Given the description of an element on the screen output the (x, y) to click on. 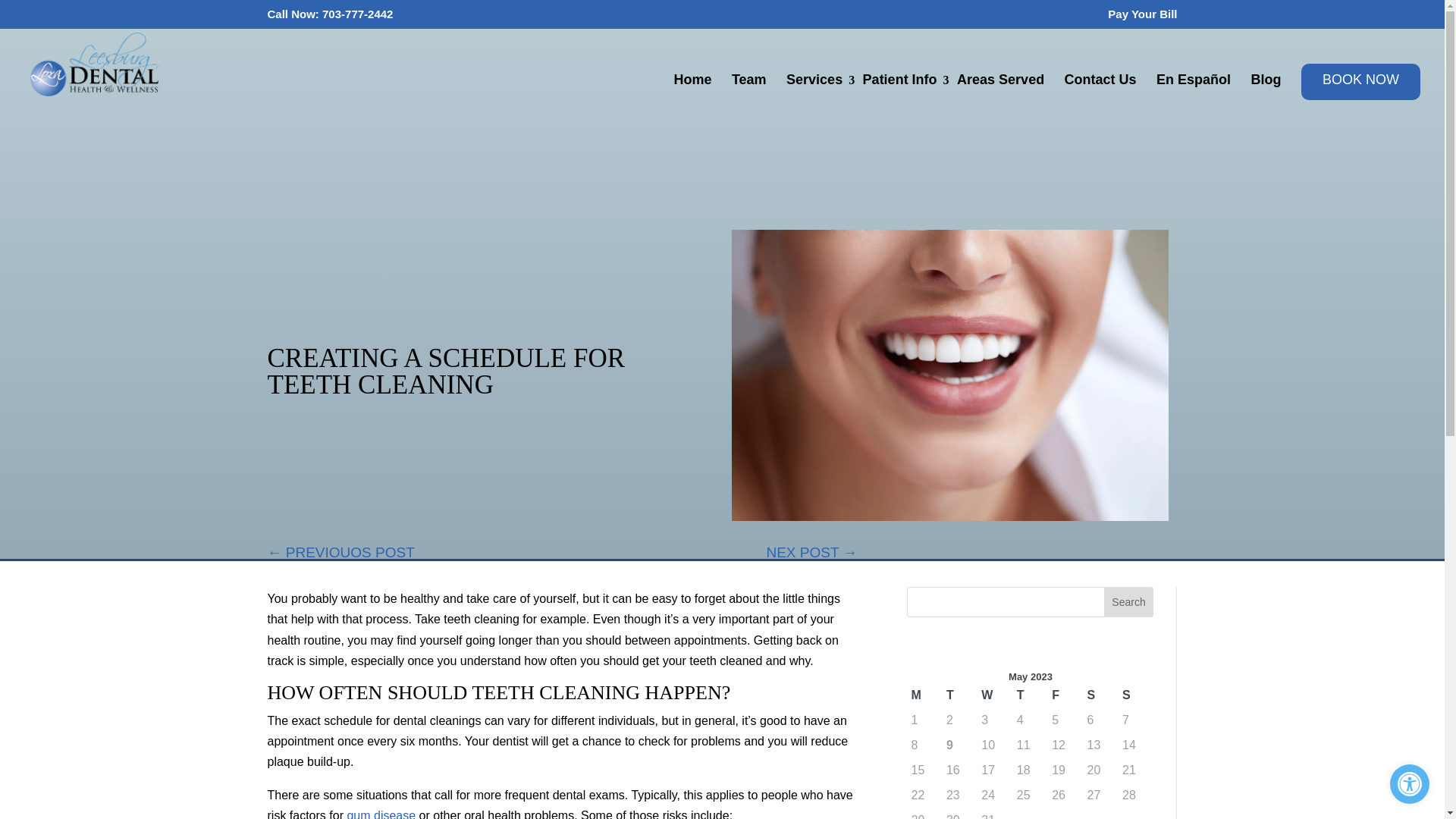
Saturday (1100, 694)
703-777-2442 (357, 13)
Team (749, 86)
Accessibility Tools (1409, 783)
Tuesday (959, 694)
Accessibility Tools (1409, 784)
Thursday (1030, 694)
Sunday (1135, 694)
Monday (924, 694)
Wednesday (993, 694)
Home (691, 86)
Search (1409, 783)
Pay Your Bill (1128, 602)
Services (1142, 17)
